Given the description of an element on the screen output the (x, y) to click on. 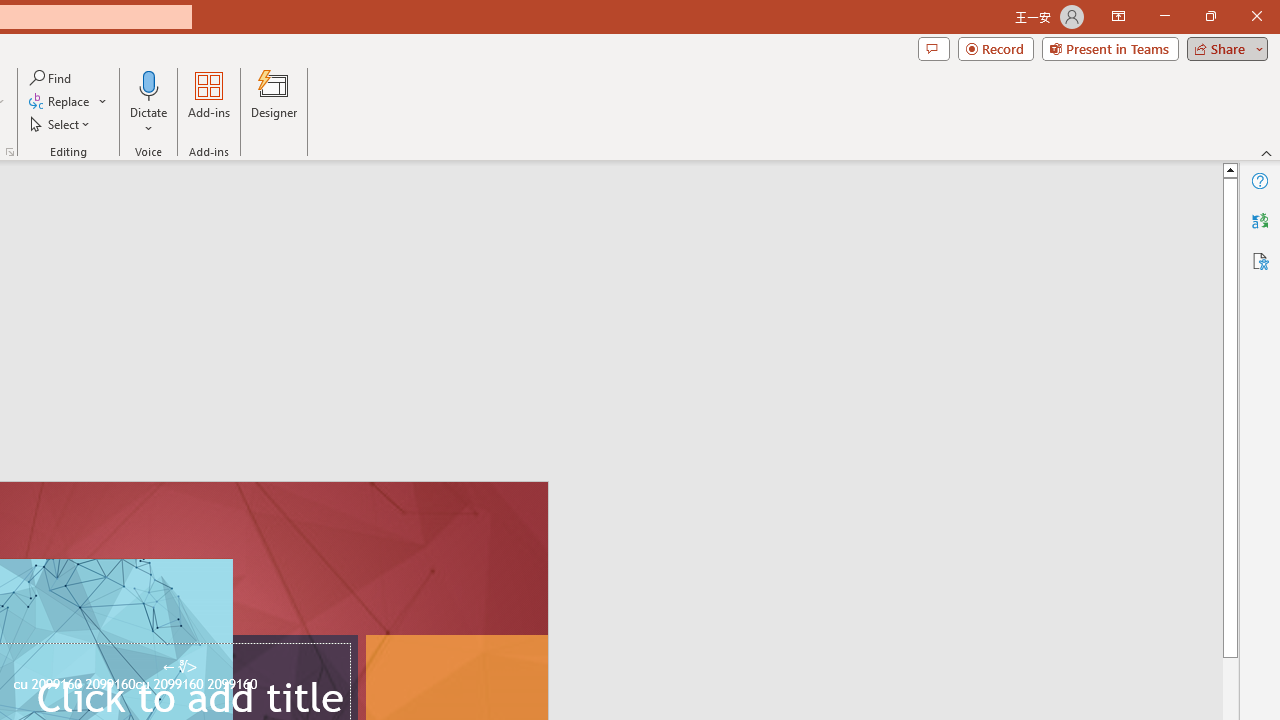
Find... (51, 78)
